Given the description of an element on the screen output the (x, y) to click on. 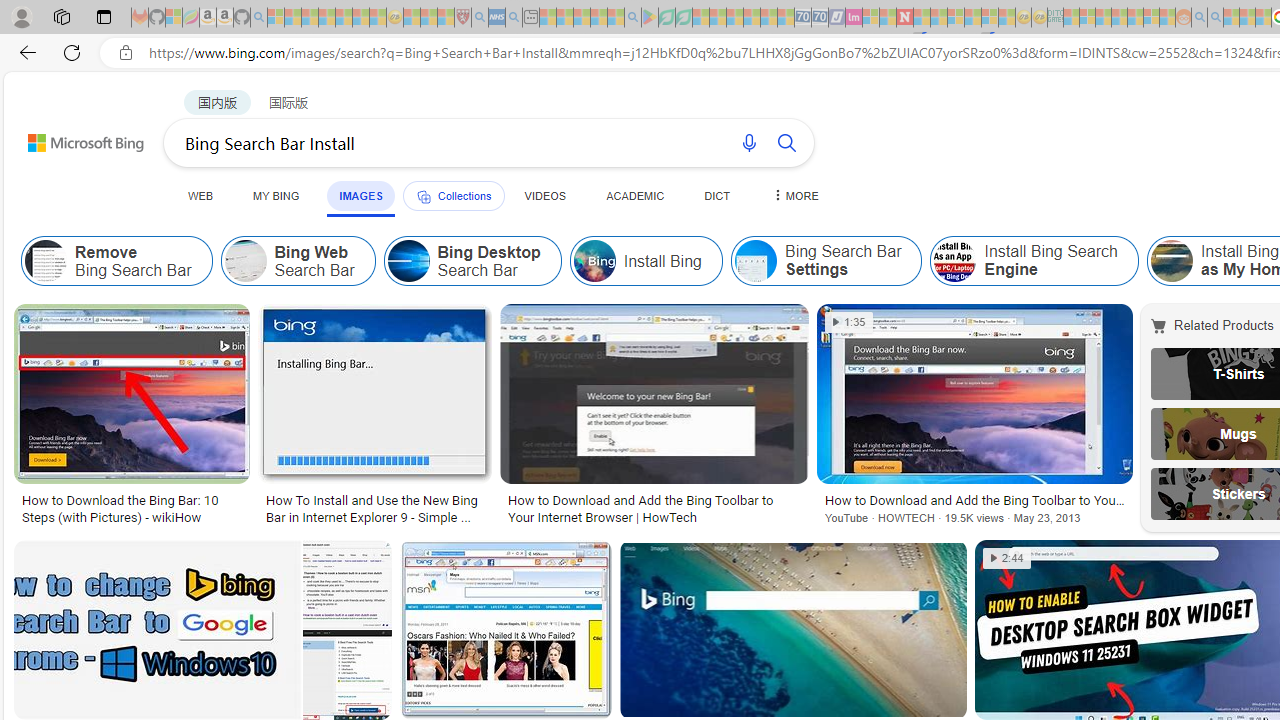
Remove Bing Search Bar (116, 260)
Bing Search Bar Settings (825, 260)
Install Bing as My Homepage (1170, 260)
MSNBC - MSN - Sleeping (1071, 17)
